Given the description of an element on the screen output the (x, y) to click on. 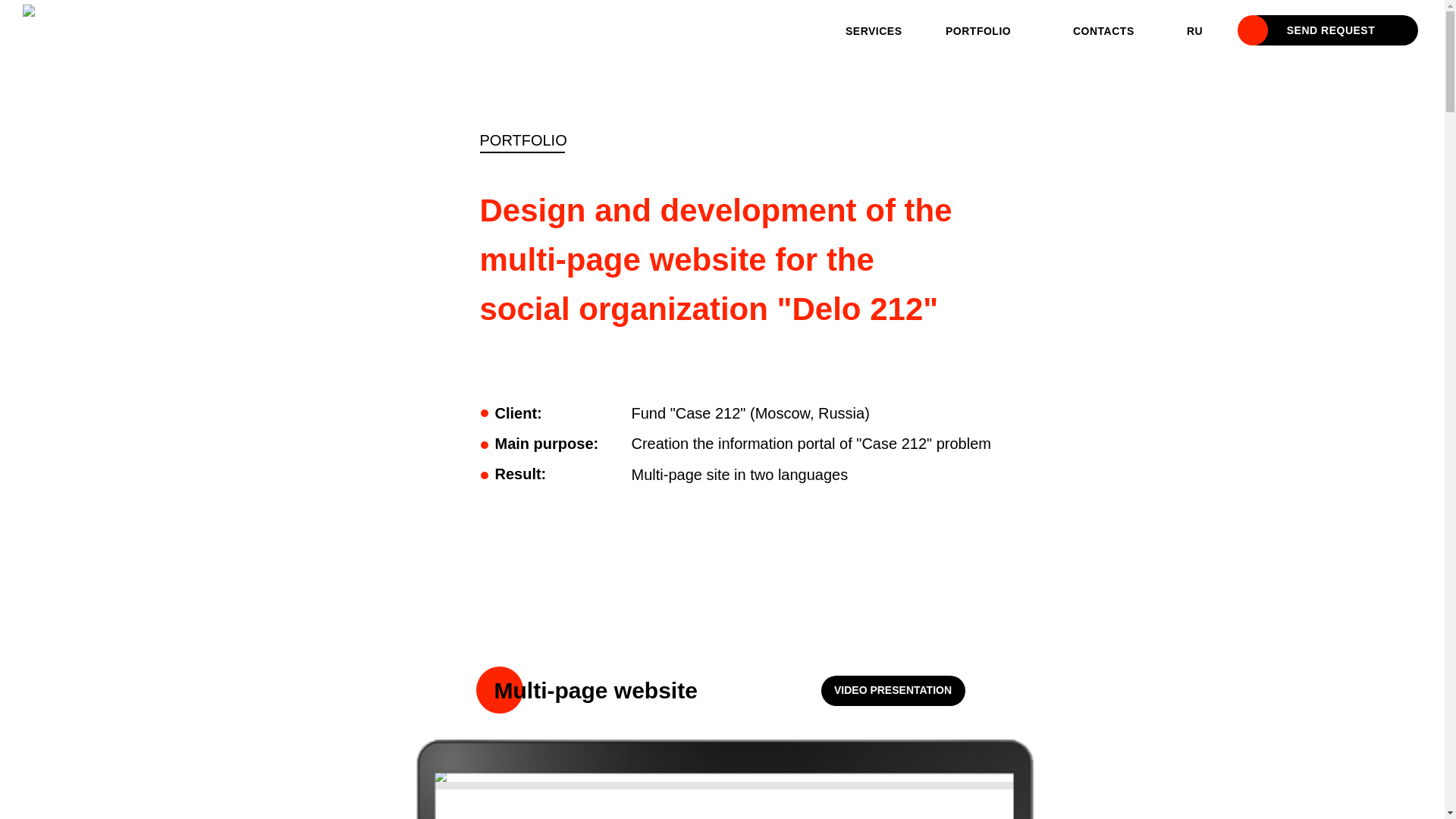
CONTACTS Element type: text (1103, 31)
PORTFOLIO Element type: text (977, 31)
RU Element type: text (1194, 31)
VIDEO PRESENTATION Element type: text (892, 690)
SERVICES Element type: text (873, 31)
SEND REQUEST Element type: text (1330, 30)
